Given the description of an element on the screen output the (x, y) to click on. 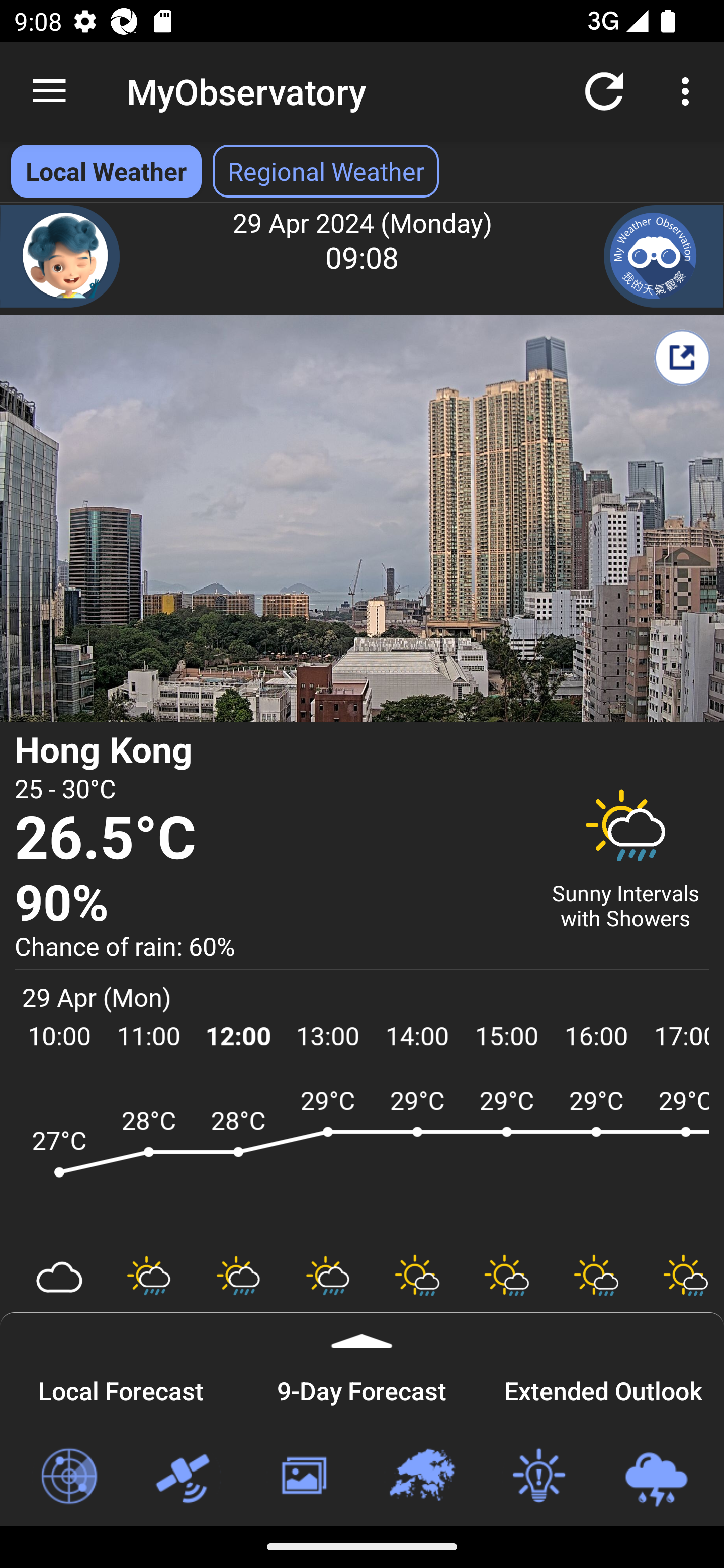
Navigate up (49, 91)
Refresh (604, 90)
More options (688, 90)
Local Weather Local Weather selected (105, 170)
Regional Weather Select Regional Weather (325, 170)
Chatbot (60, 256)
My Weather Observation (663, 256)
Share My Weather Report (681, 357)
26.5°C Temperature
26.5 degree Celsius (270, 839)
90% Relative Humidity
90 percent (270, 903)
ARWF (361, 1160)
Expand (362, 1330)
Local Forecast (120, 1387)
Extended Outlook (603, 1387)
Radar Images (68, 1476)
Satellite Images (185, 1476)
Weather Photos (302, 1476)
Regional Weather (420, 1476)
Weather Tips (537, 1476)
Loc-based Rain & Lightning Forecast (655, 1476)
